Given the description of an element on the screen output the (x, y) to click on. 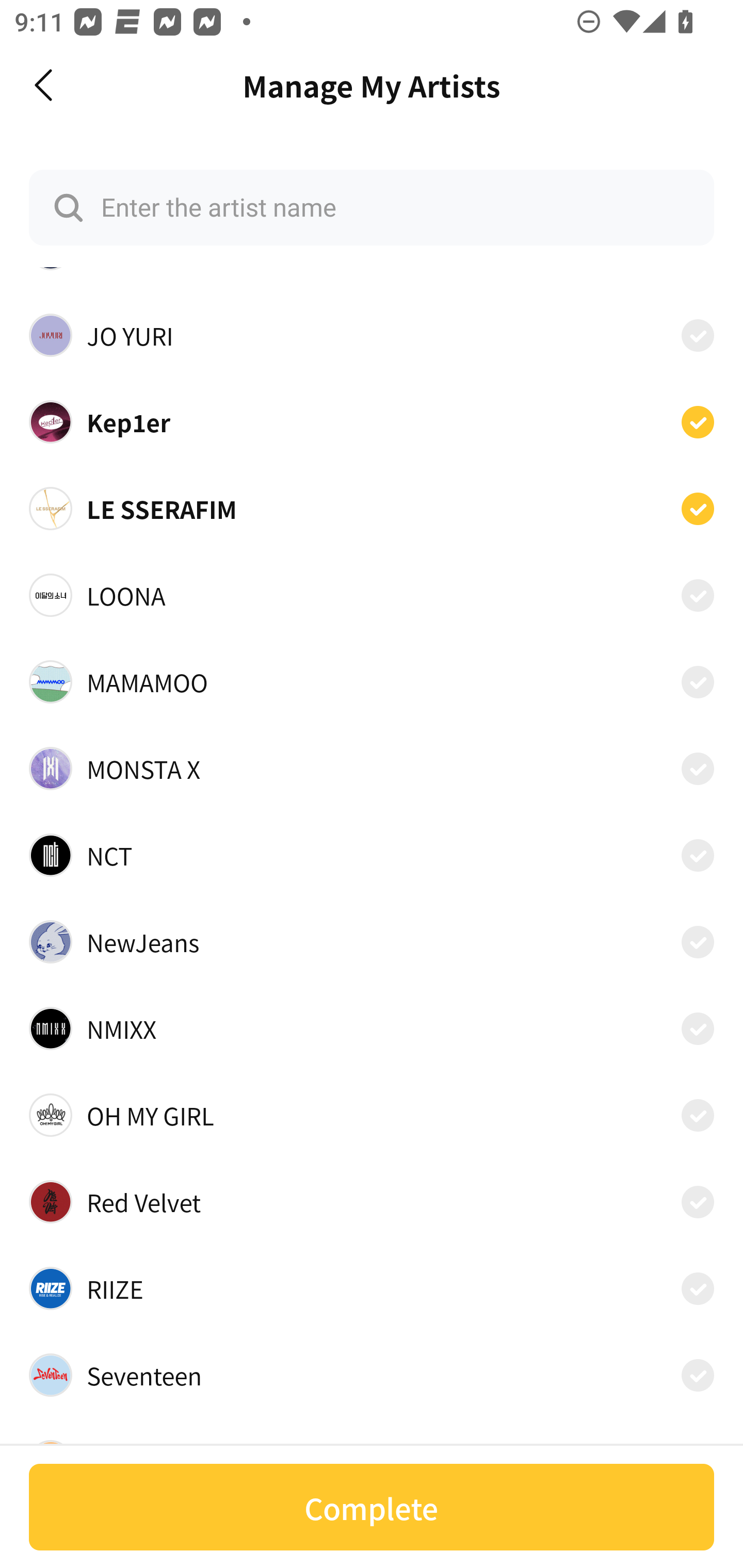
Enter the artist name (371, 207)
JO YURI (371, 335)
Kep1er (371, 421)
LE SSERAFIM (371, 508)
LOONA (371, 594)
MAMAMOO (371, 682)
MONSTA X (371, 768)
NCT (371, 855)
NewJeans (371, 941)
NMIXX (371, 1028)
OH MY GIRL (371, 1114)
Red Velvet (371, 1201)
RIIZE (371, 1288)
Seventeen (371, 1375)
Complete (371, 1507)
